Given the description of an element on the screen output the (x, y) to click on. 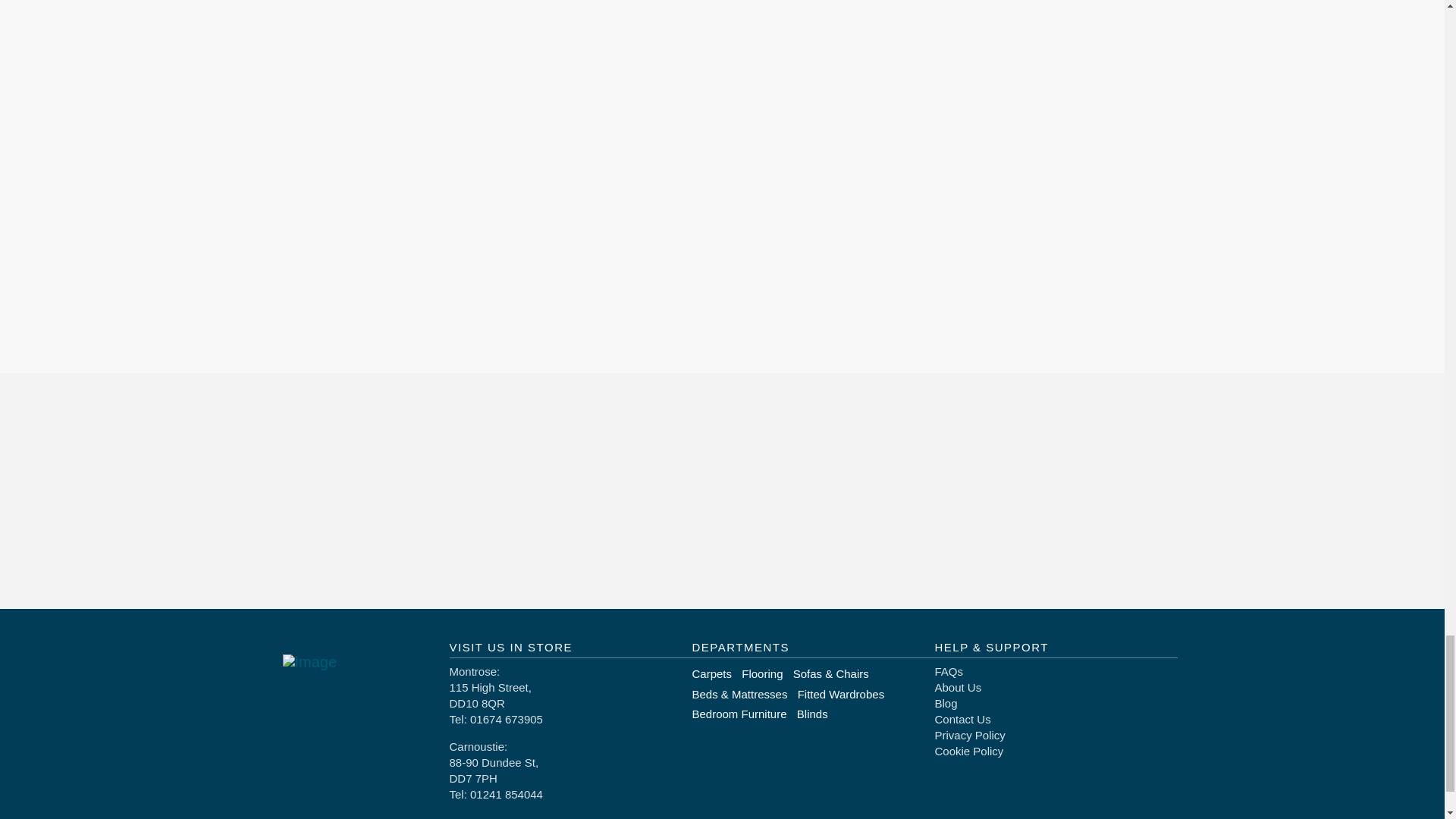
Blinds (817, 713)
About Us (957, 686)
01241 854044 (506, 793)
01674 673905 (506, 718)
Blog (945, 703)
Carpets (716, 673)
Fitted Wardrobes (846, 693)
Bedroom Furniture (743, 713)
FAQs (948, 671)
Flooring (766, 673)
